Given the description of an element on the screen output the (x, y) to click on. 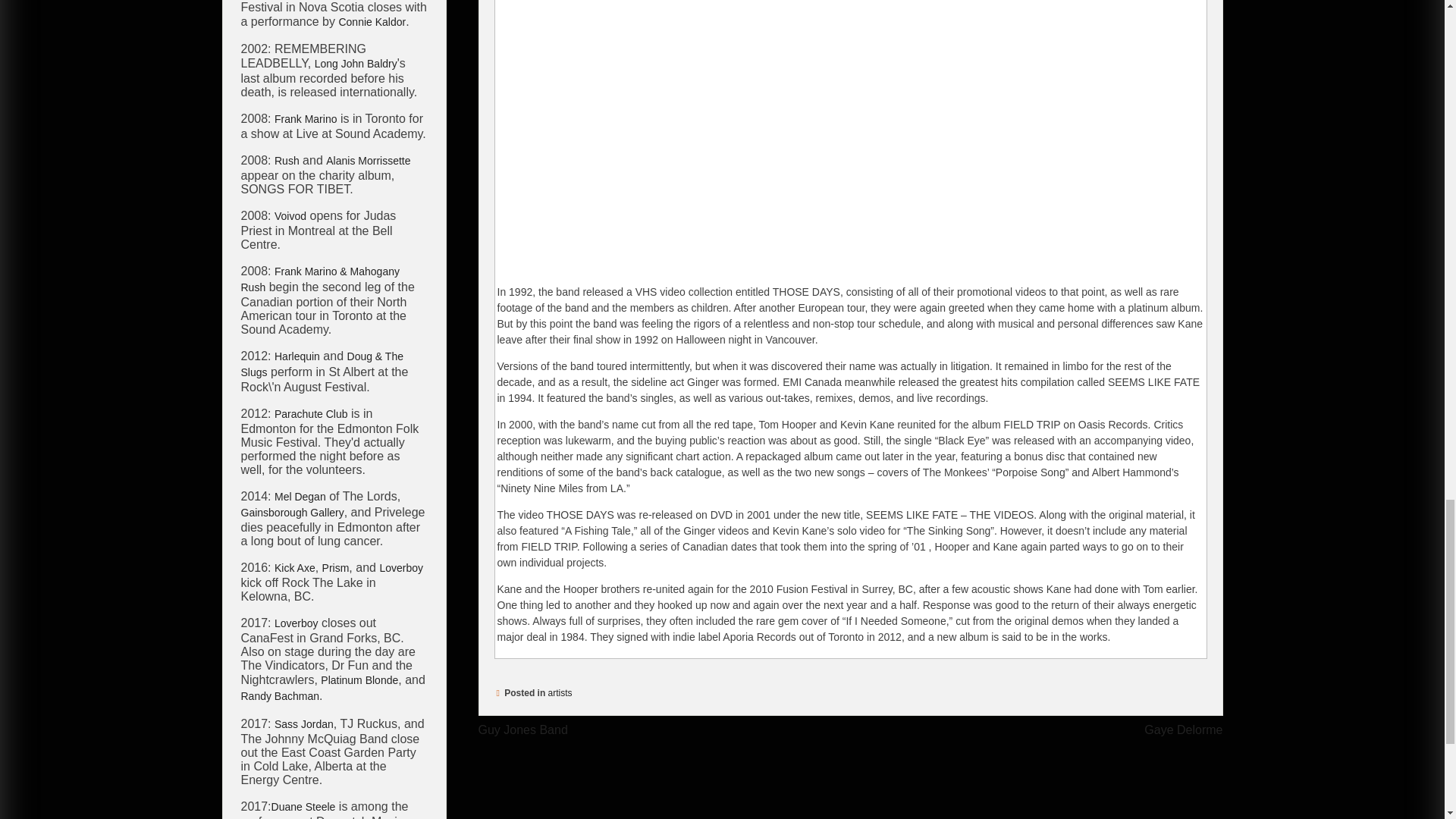
Guy Jones Band (522, 729)
Gaye Delorme (1183, 729)
artists (560, 692)
